Given the description of an element on the screen output the (x, y) to click on. 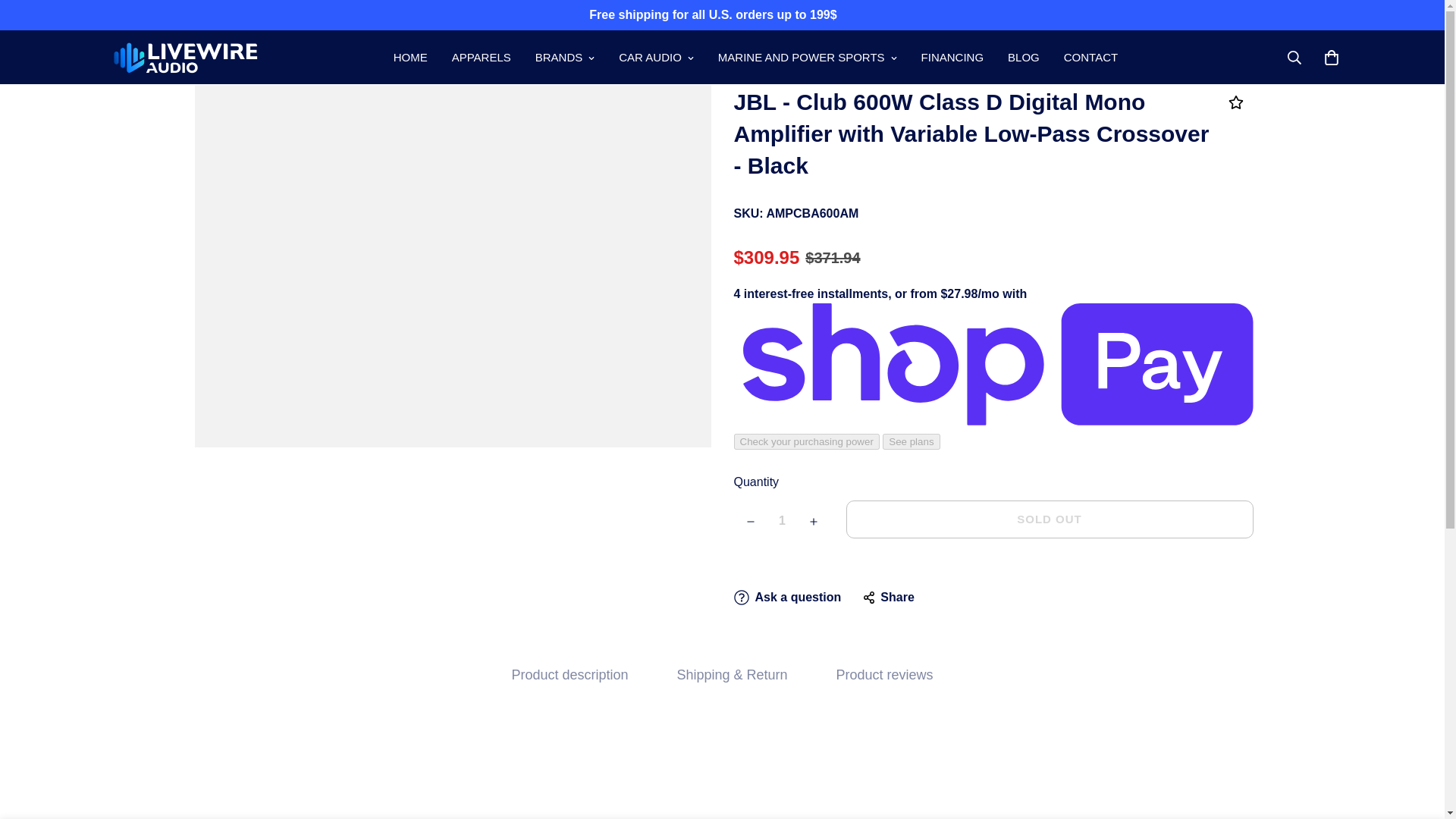
Back to the home page (447, 51)
1 (782, 520)
Livewire Audio (183, 57)
APPARELS (480, 57)
HOME (410, 57)
CAR AUDIO (656, 57)
BRANDS (564, 57)
